Given the description of an element on the screen output the (x, y) to click on. 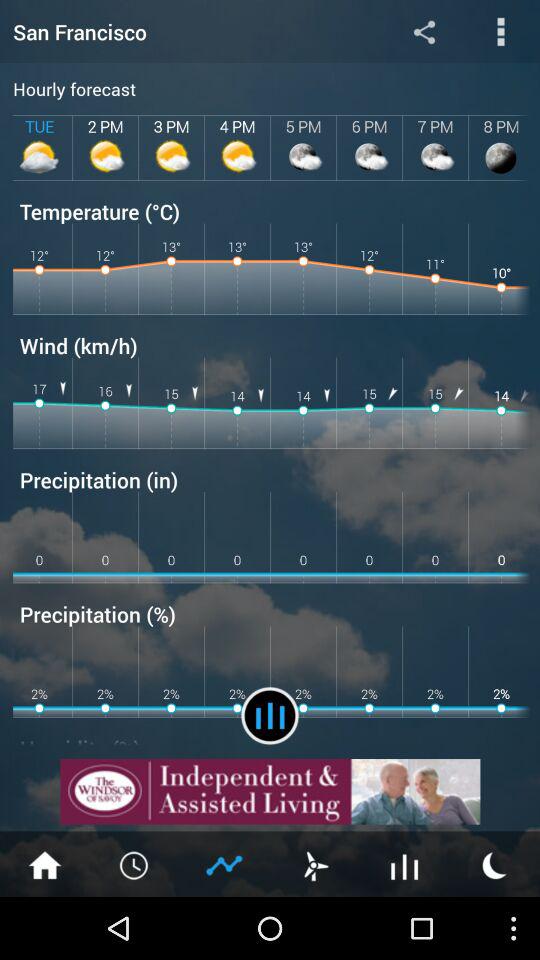
see barren lands (405, 864)
